Given the description of an element on the screen output the (x, y) to click on. 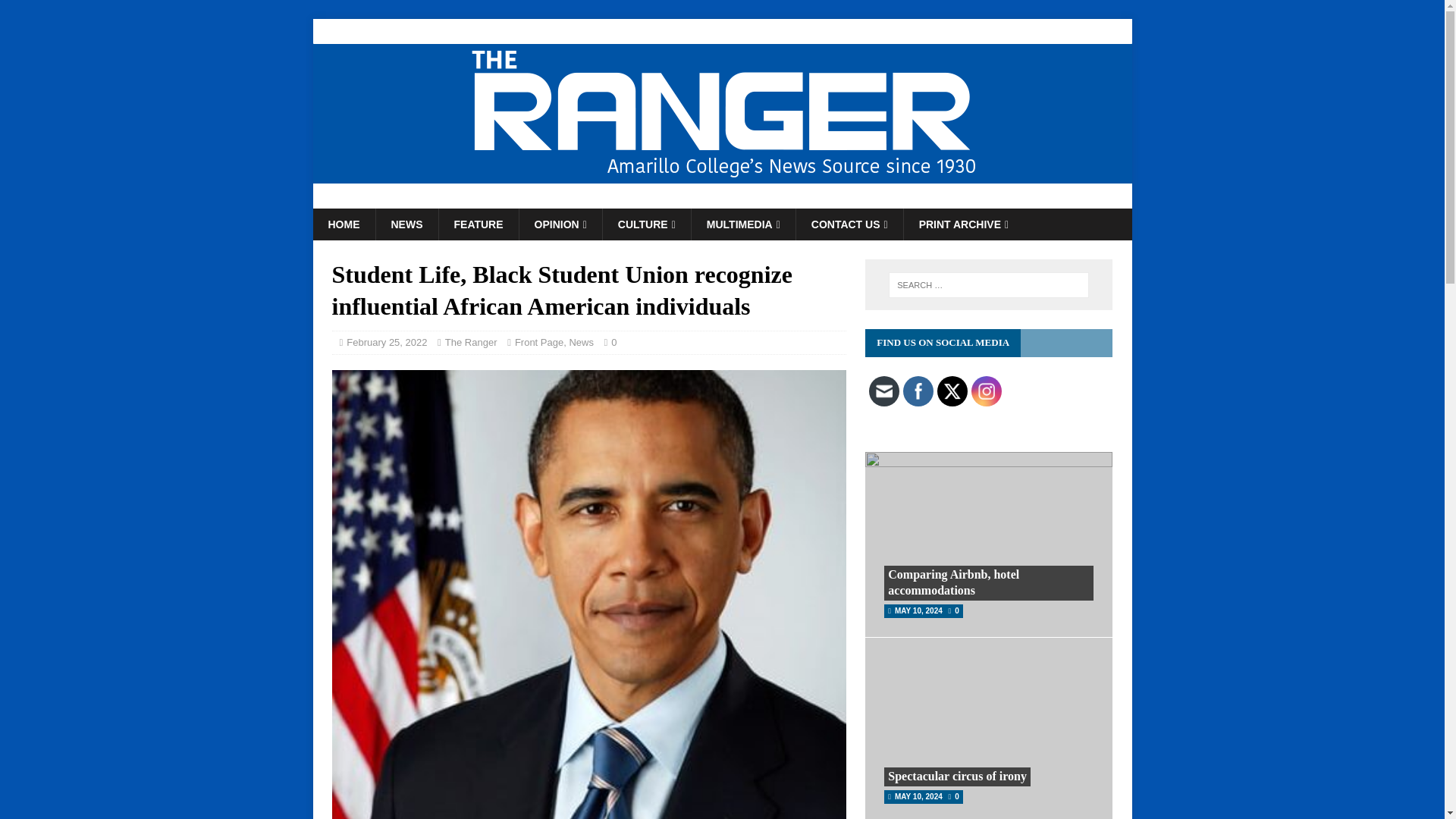
HOME (343, 224)
Facebook (918, 391)
FEATURE (478, 224)
Twitter (951, 391)
Instagram (986, 391)
NEWS (406, 224)
Follow by Email (884, 391)
The Ranger (722, 200)
